Given the description of an element on the screen output the (x, y) to click on. 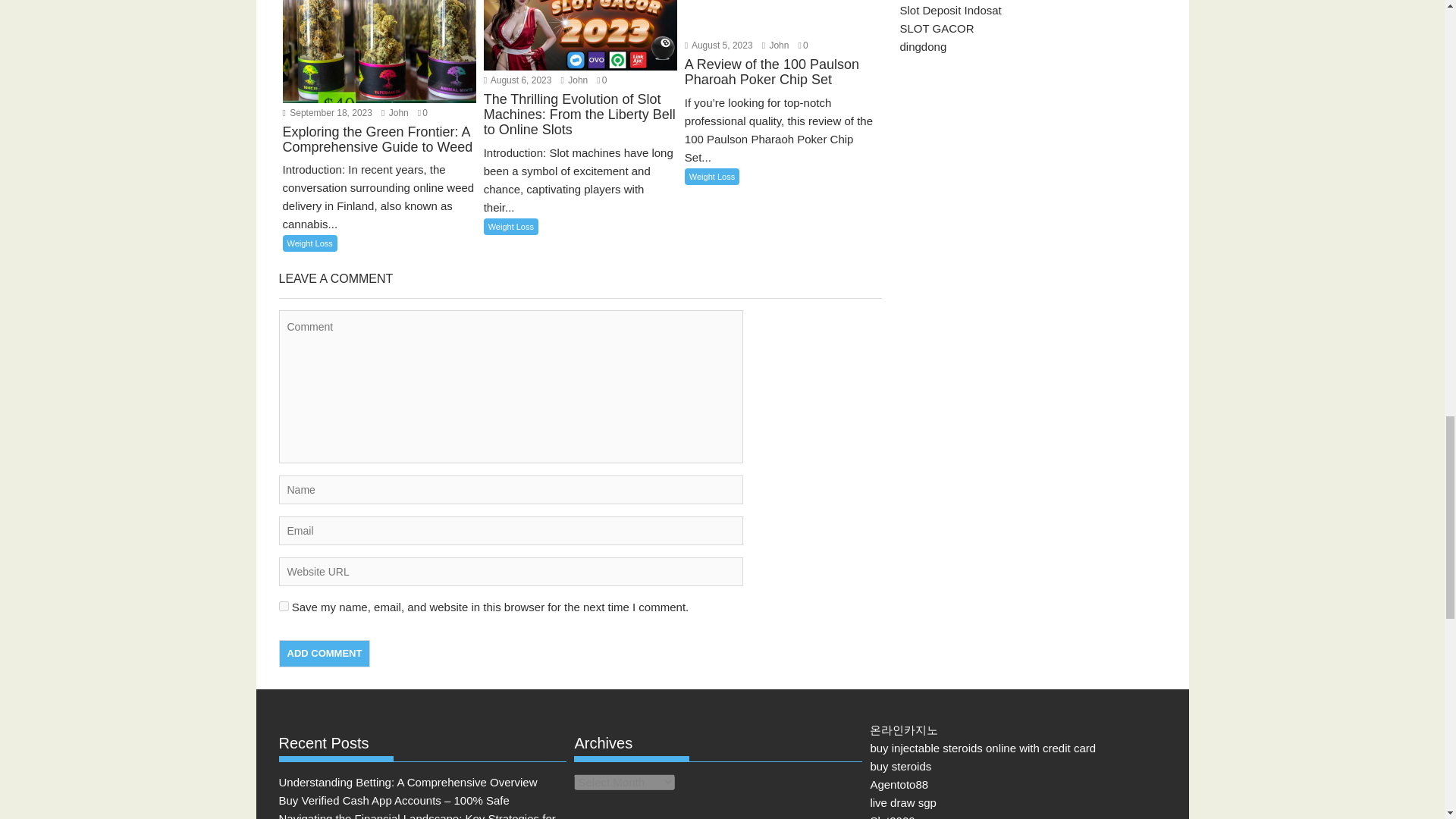
Weight Loss (309, 243)
0 (422, 112)
September 18, 2023 (326, 112)
Add Comment (325, 653)
John (395, 112)
yes (283, 605)
John (395, 112)
John (775, 45)
Exploring the Green Frontier: A Comprehensive Guide to Weed (379, 150)
John (574, 80)
